Given the description of an element on the screen output the (x, y) to click on. 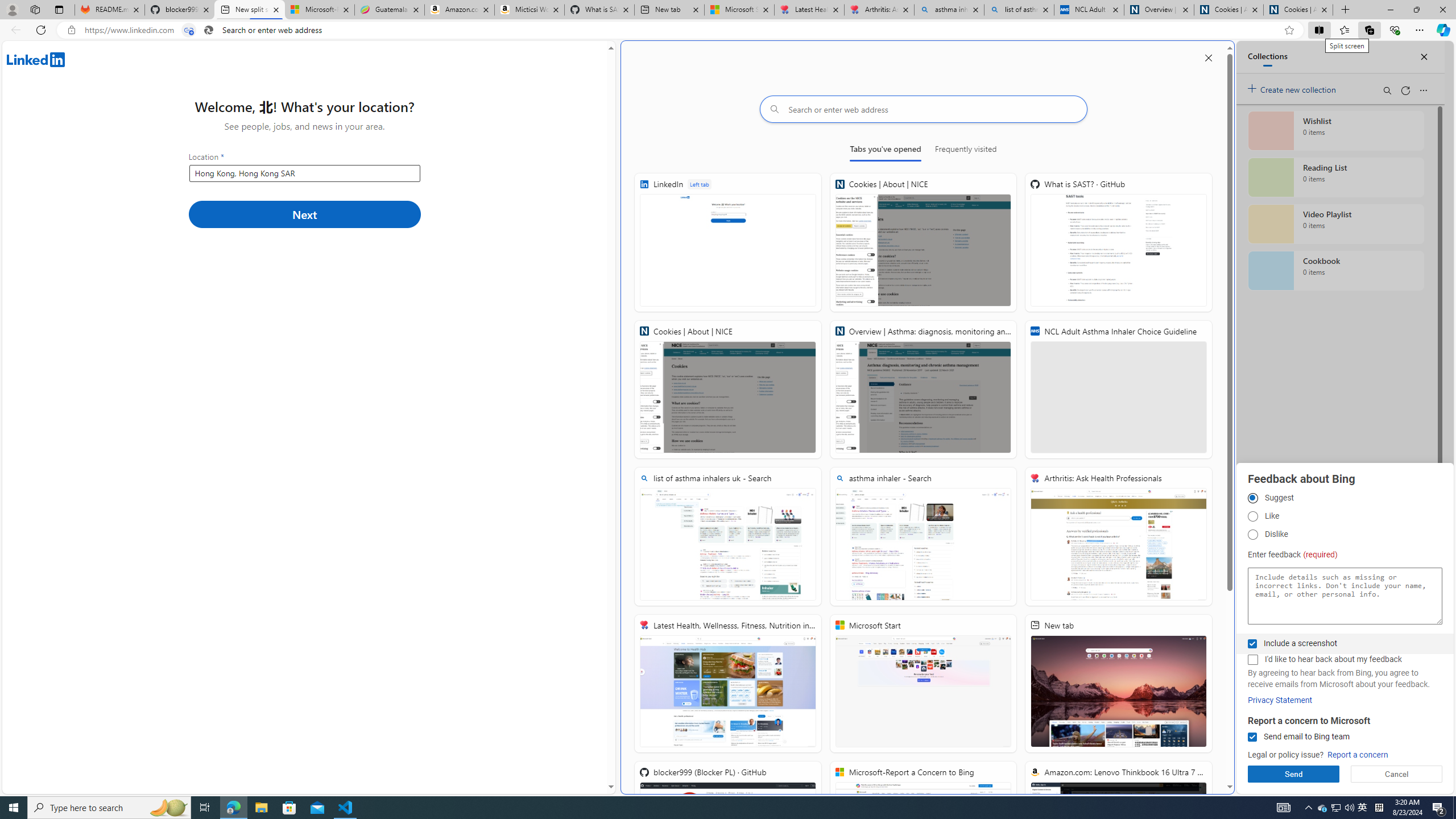
LinkedIn (727, 242)
New split screen (249, 9)
asthma inhaler - Search (922, 536)
asthma inhaler - Search (949, 9)
Close split screen (1208, 57)
